Given the description of an element on the screen output the (x, y) to click on. 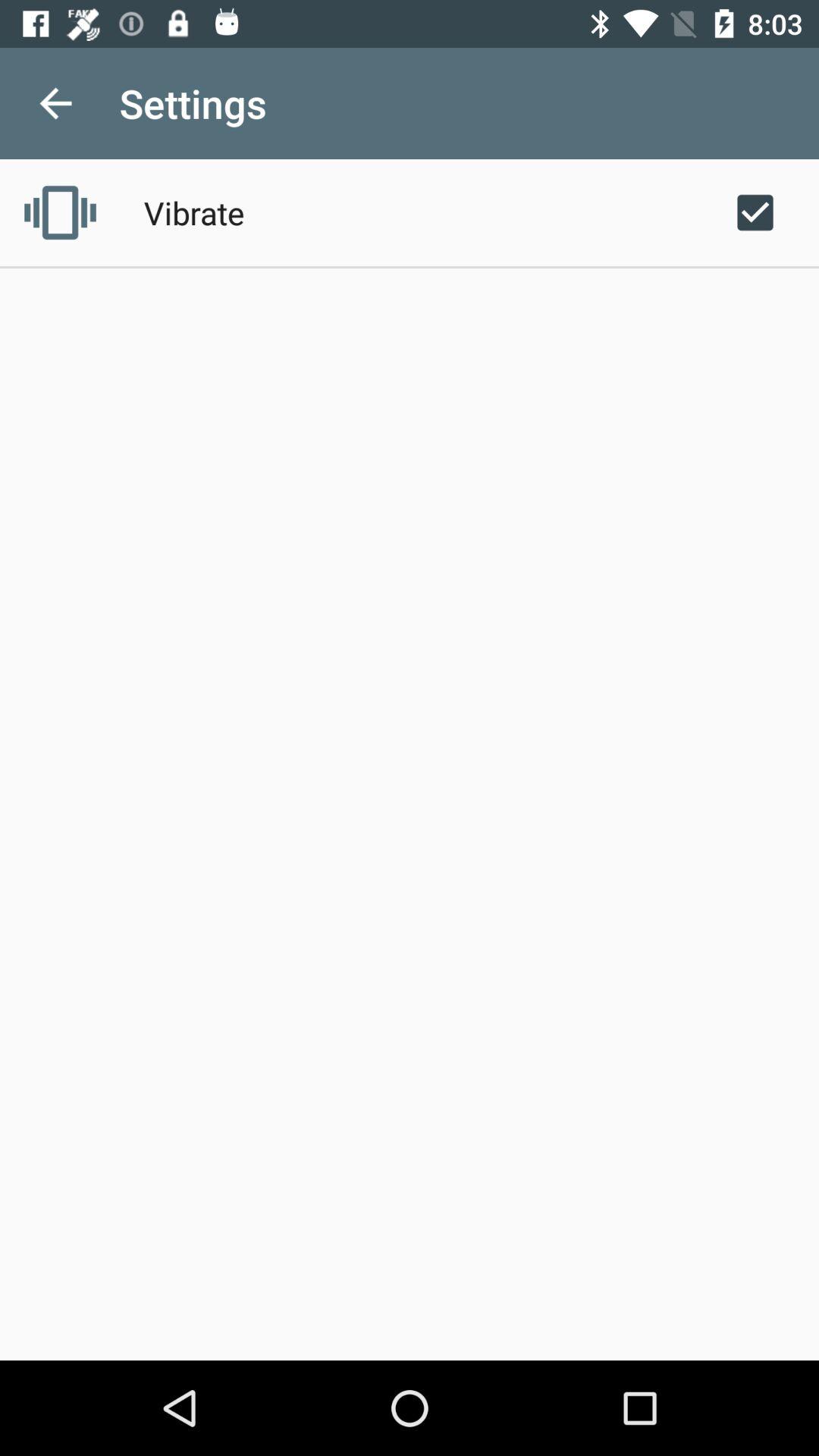
launch icon to the left of settings icon (55, 103)
